Given the description of an element on the screen output the (x, y) to click on. 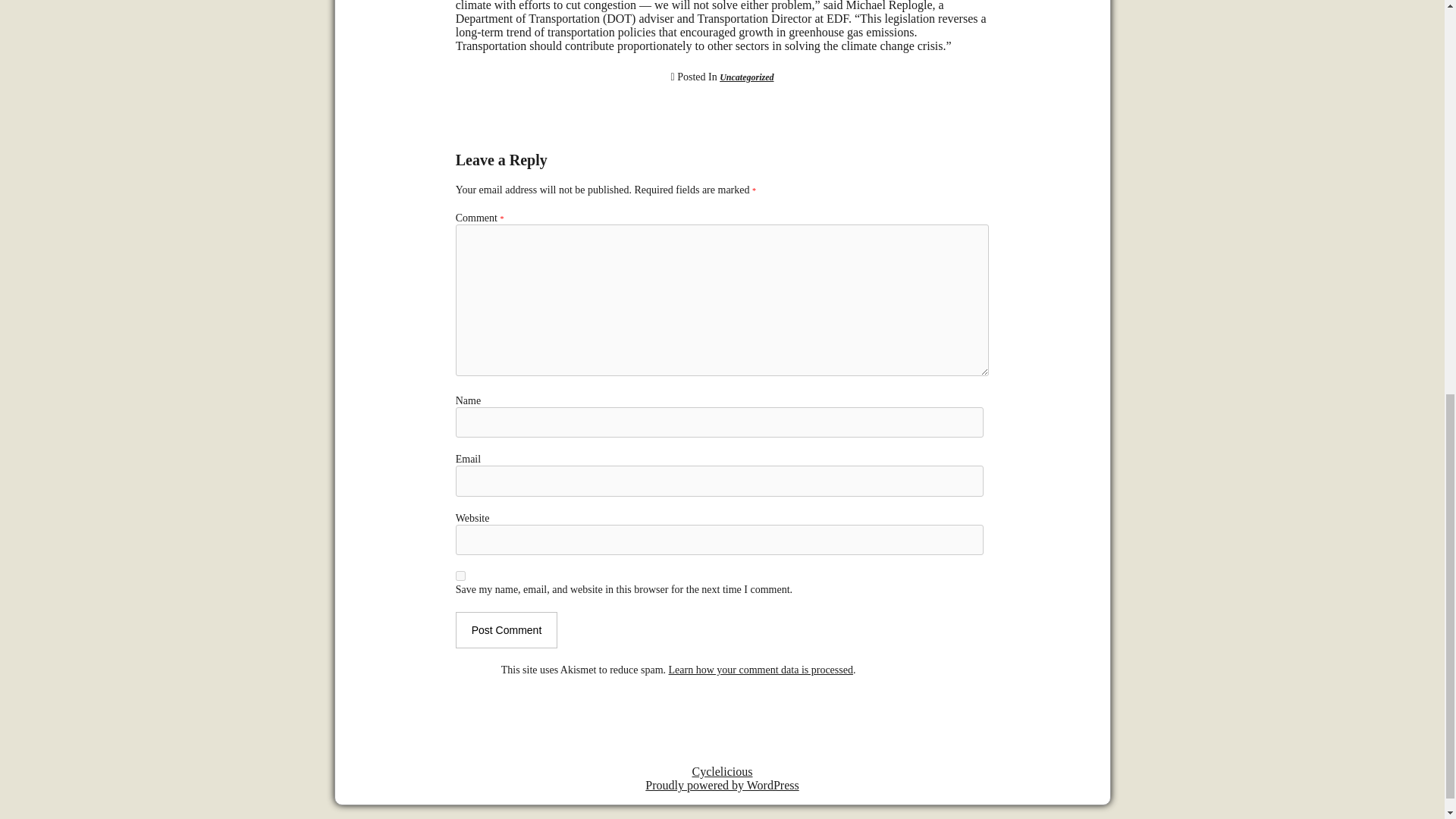
Proudly powered by WordPress (721, 784)
Post Comment (506, 629)
yes (460, 575)
Learn how your comment data is processed (760, 669)
Post Comment (506, 629)
Cyclelicious (721, 771)
Uncategorized (746, 77)
